Given the description of an element on the screen output the (x, y) to click on. 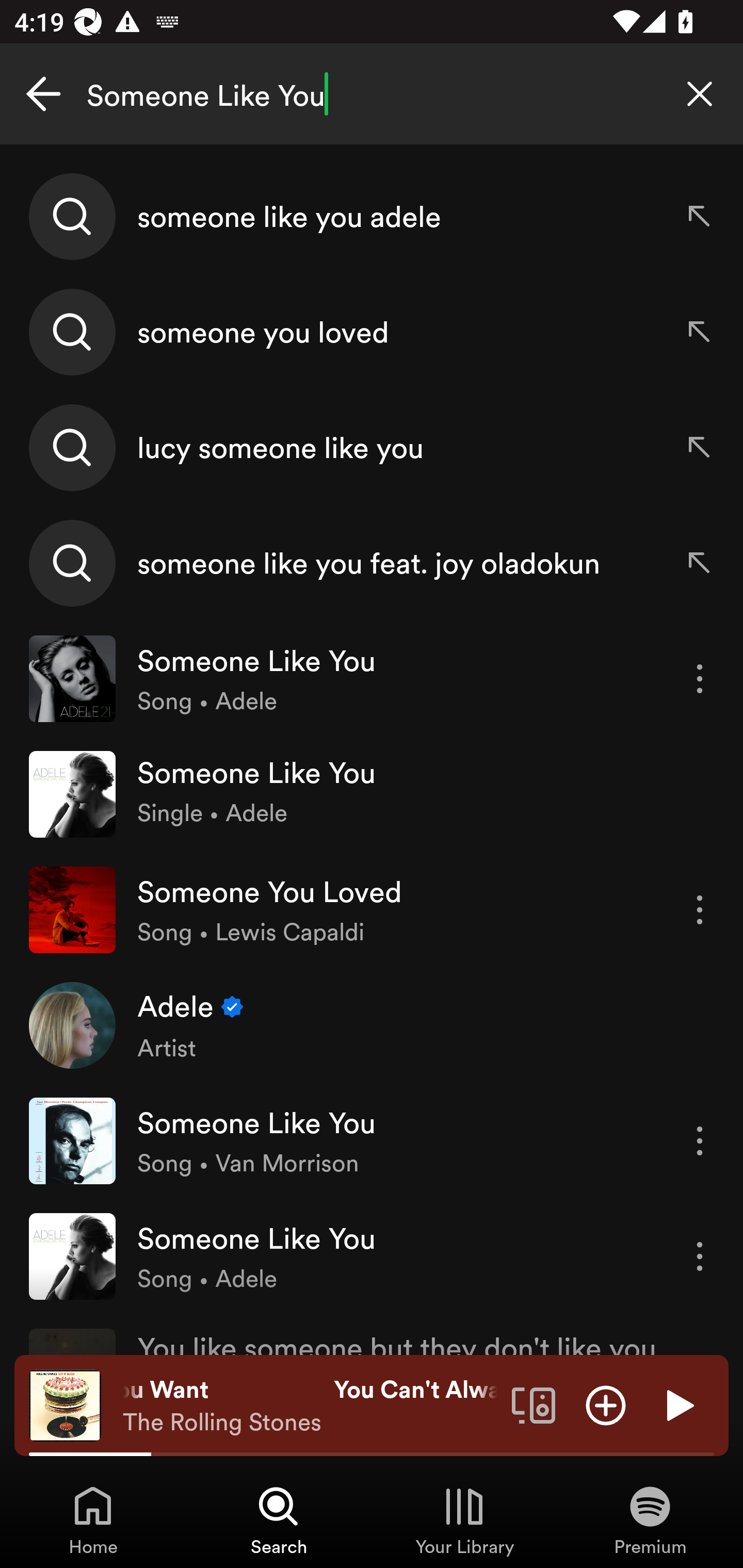
Someone Like You (371, 93)
Cancel (43, 93)
Clear search query (699, 93)
someone like you adele (371, 216)
someone you loved (371, 332)
lucy someone like you (371, 447)
someone like you feat. joy oladokun (371, 562)
More options for song Someone Like You (699, 678)
Someone Like You Single • Adele (371, 793)
More options for song Someone You Loved (699, 910)
Adele Verified Artist (371, 1025)
More options for song Someone Like You (699, 1140)
More options for song Someone Like You (699, 1256)
The cover art of the currently playing track (64, 1404)
Connect to a device. Opens the devices menu (533, 1404)
Add item (605, 1404)
Play (677, 1404)
Home, Tab 1 of 4 Home Home (92, 1519)
Search, Tab 2 of 4 Search Search (278, 1519)
Your Library, Tab 3 of 4 Your Library Your Library (464, 1519)
Premium, Tab 4 of 4 Premium Premium (650, 1519)
